Given the description of an element on the screen output the (x, y) to click on. 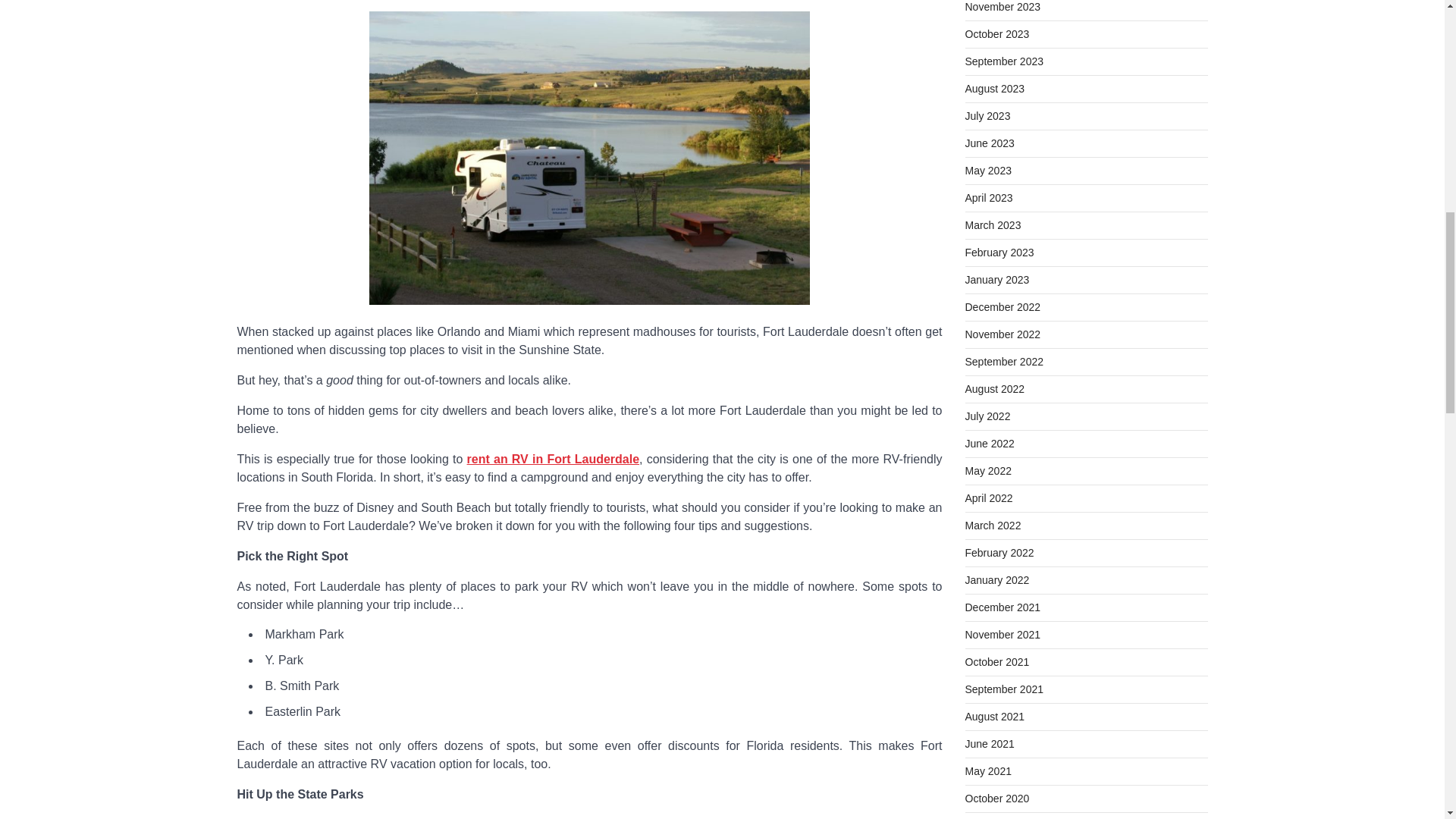
rent an RV in Fort Lauderdale (553, 459)
